Given the description of an element on the screen output the (x, y) to click on. 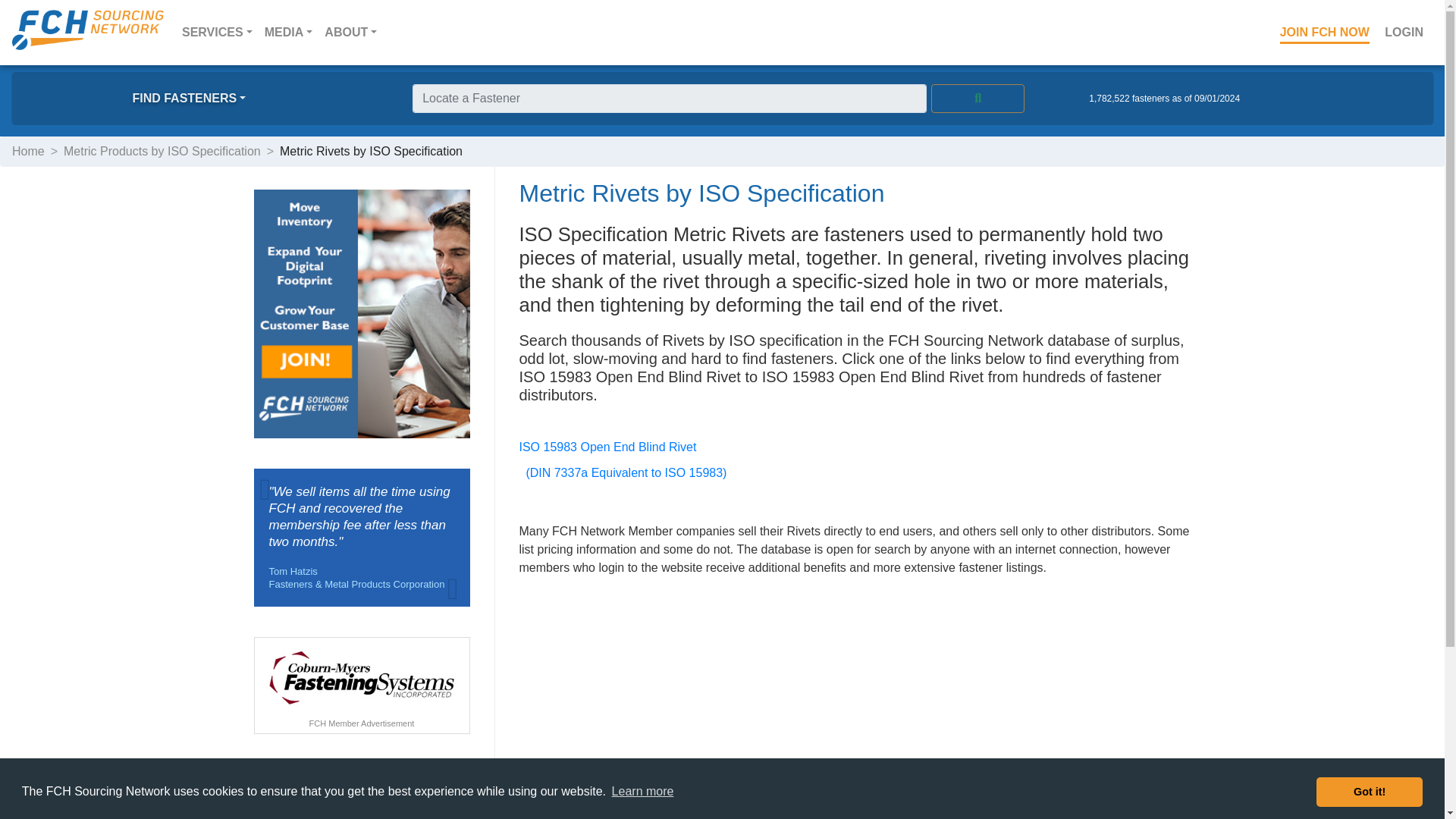
FIND FASTENERS (189, 98)
JOIN FCH NOW (1324, 32)
LOGIN (1403, 32)
Got it! (1369, 791)
MEDIA (288, 32)
ABOUT (350, 32)
FDI (32, 792)
Metric Products by ISO Specification (162, 151)
ISO 15983 Open End Blind Rivet (606, 447)
Talk Radio (51, 811)
